Given the description of an element on the screen output the (x, y) to click on. 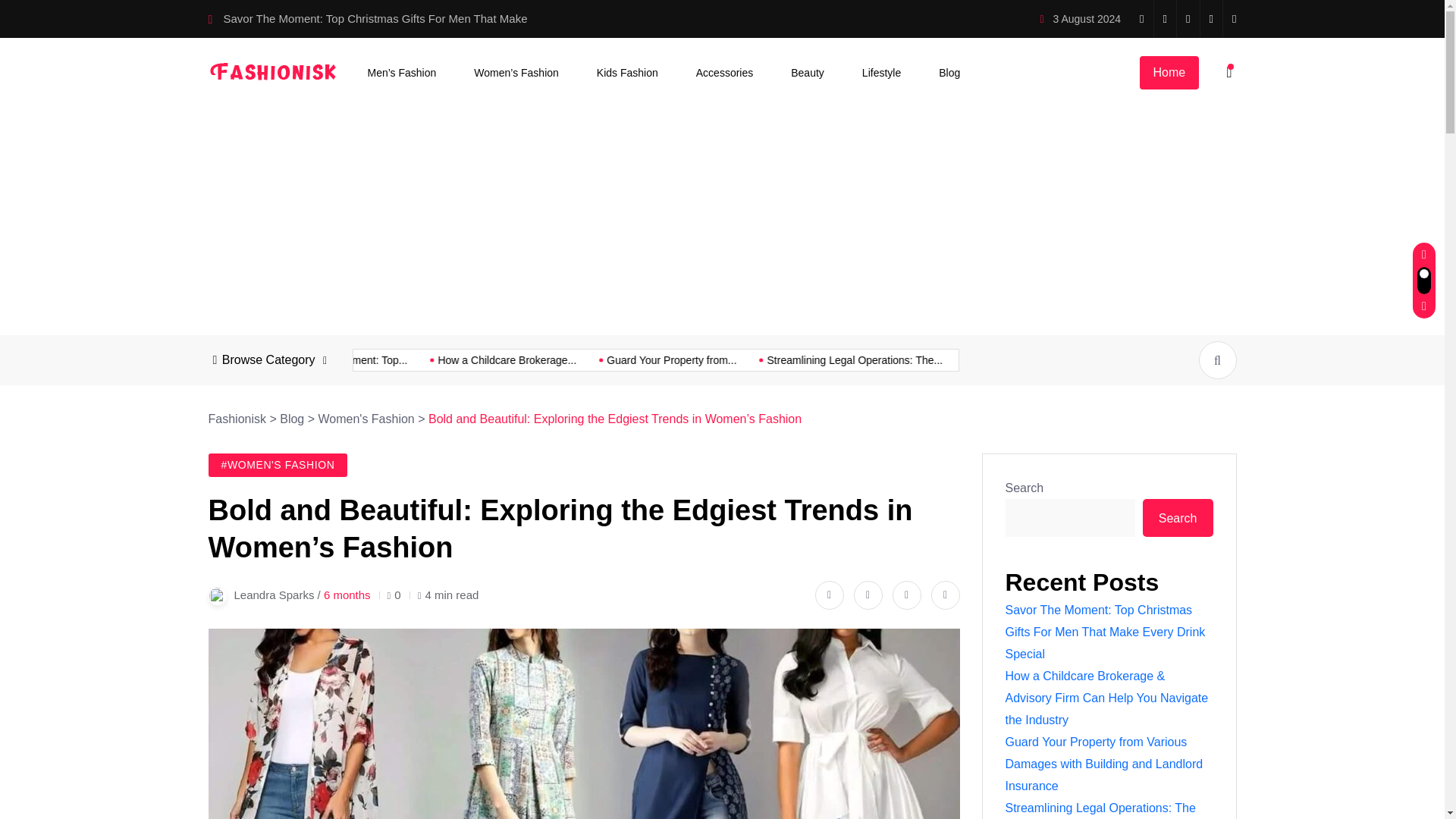
Savor The Moment: Top Christmas Gifts For Men That Make (374, 18)
Go to Blog. (291, 418)
Go to the Women's Fashion Category archives. (365, 418)
Go to Fashionisk. (236, 418)
Home (1168, 73)
